Given the description of an element on the screen output the (x, y) to click on. 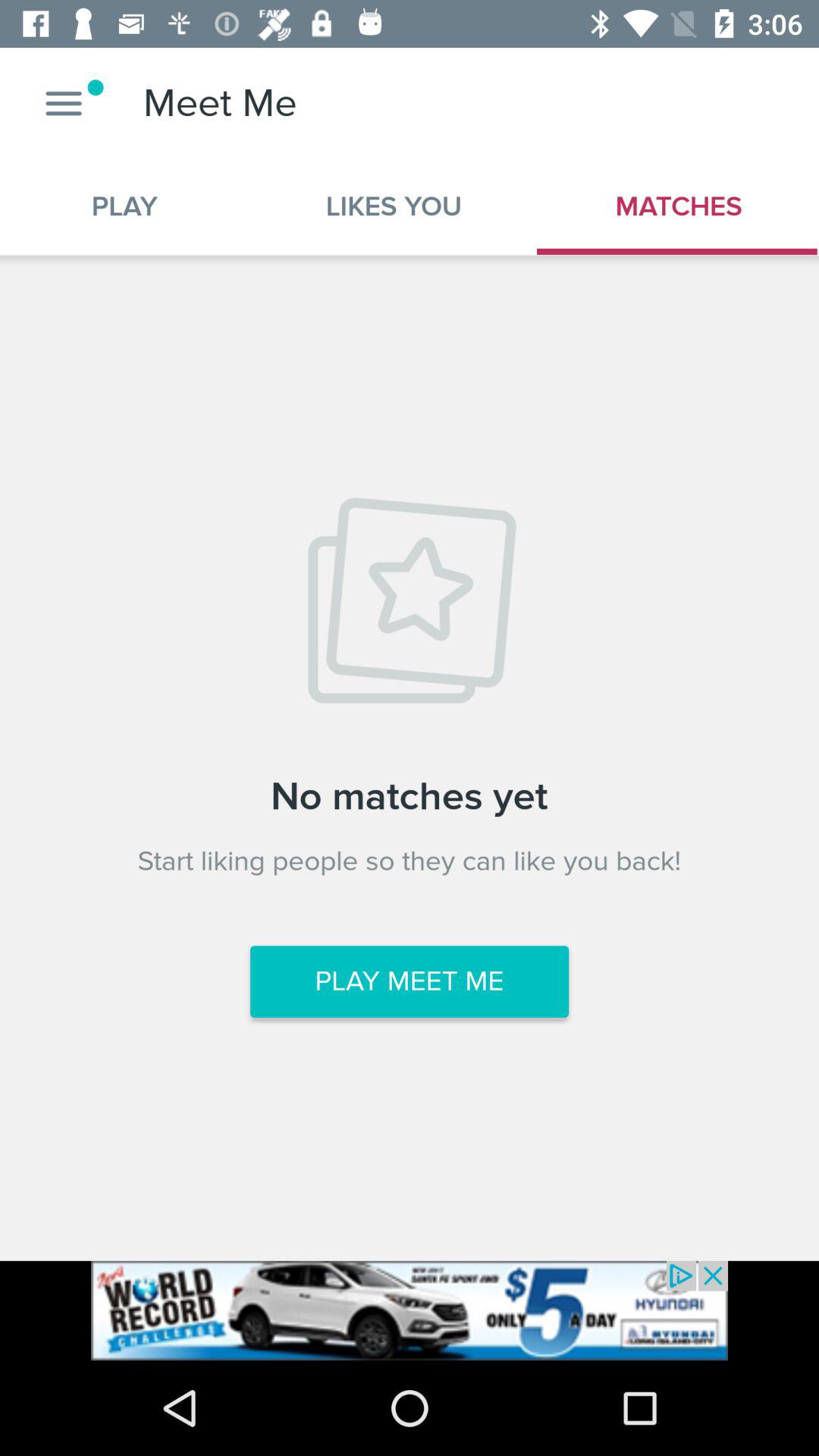
open menu (63, 103)
